Given the description of an element on the screen output the (x, y) to click on. 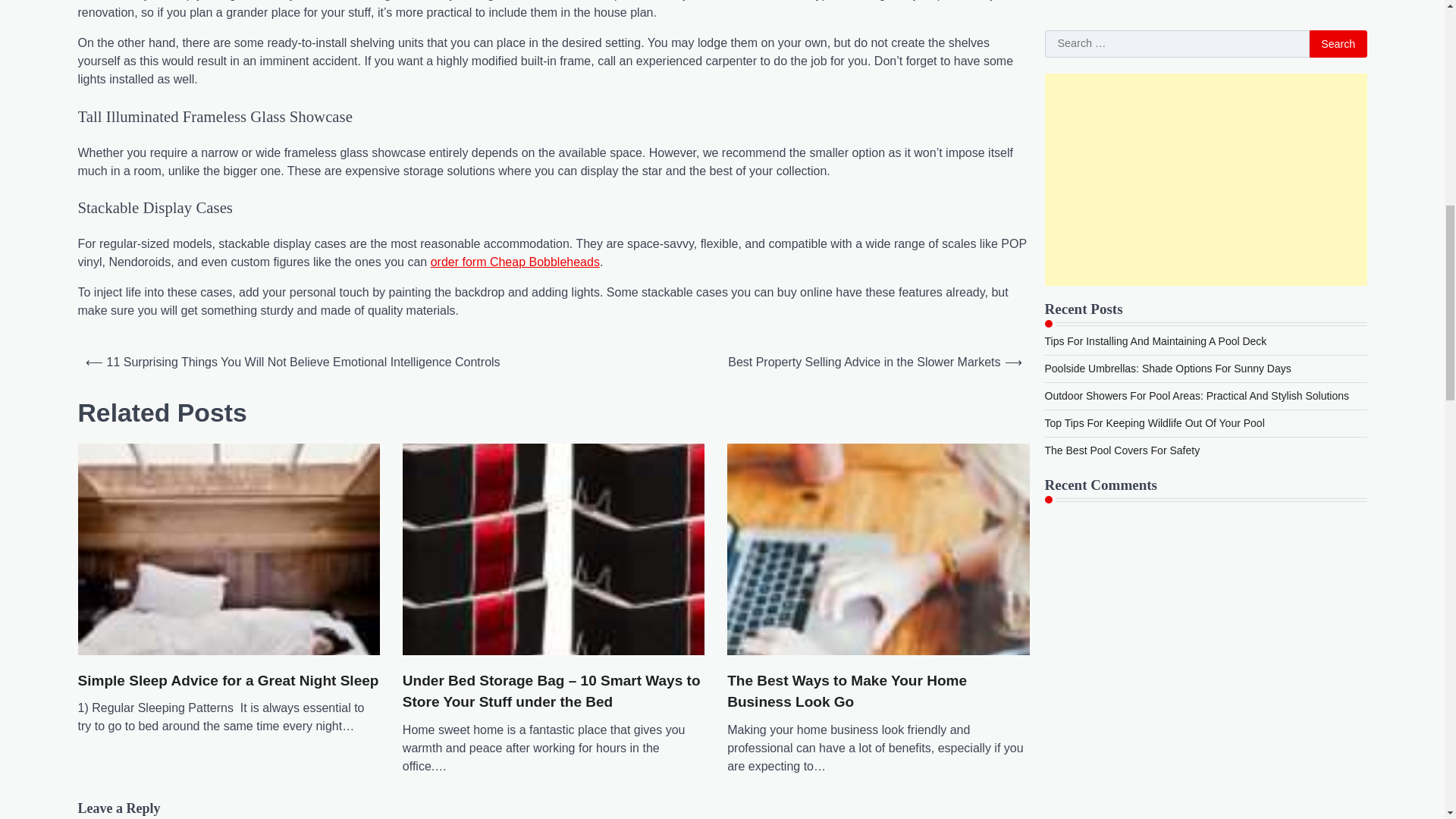
Simple Sleep Advice for a Great Night Sleep (227, 681)
The Best Ways to Make Your Home Business Look Go (877, 691)
order form Cheap Bobbleheads (514, 261)
